Given the description of an element on the screen output the (x, y) to click on. 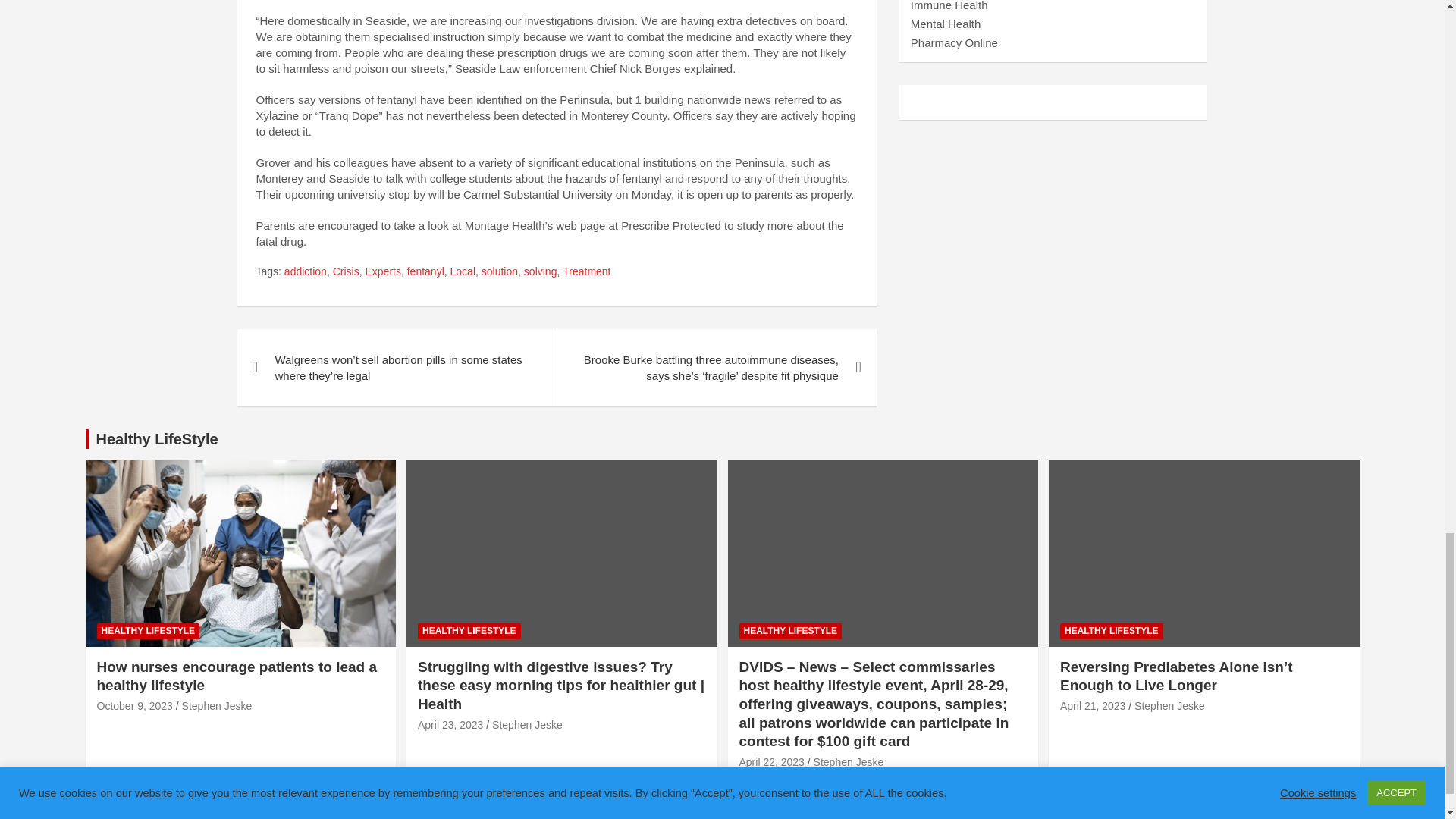
solving (540, 272)
Local (462, 272)
How nurses encourage patients to lead a healthy lifestyle (135, 705)
Crisis (346, 272)
Treatment (586, 272)
Experts (382, 272)
solution (499, 272)
fentanyl (425, 272)
addiction (304, 272)
